Given the description of an element on the screen output the (x, y) to click on. 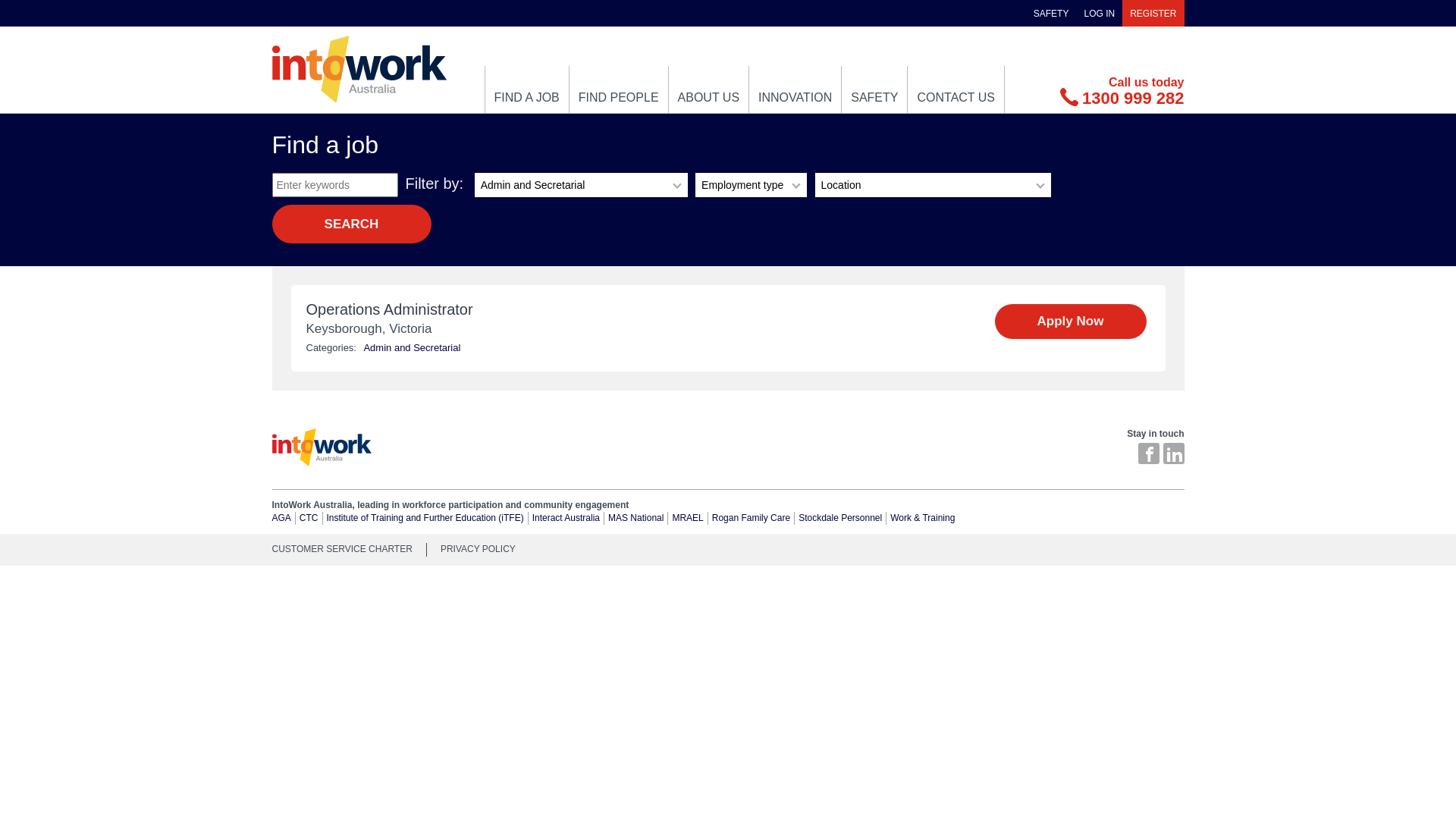
CUSTOMER SERVICE CHARTER Element type: text (348, 547)
MAS National Element type: text (635, 517)
search Element type: text (350, 223)
Work & Training Element type: text (922, 517)
Rogan Family Care Element type: text (751, 517)
1300 999 282 Element type: text (1122, 98)
Admin and Secretarial Element type: text (411, 347)
SAFETY Element type: text (1051, 13)
CONTACT US Element type: text (955, 88)
Apply Now Element type: text (1070, 321)
ABOUT US Element type: text (708, 88)
LOG IN Element type: text (1099, 13)
Interact Australia Element type: text (565, 517)
INNOVATION Element type: text (794, 88)
CTC Element type: text (308, 517)
Operations Administrator Element type: text (652, 309)
FIND A JOB Element type: text (526, 88)
AGA Element type: text (280, 517)
MRAEL Element type: text (686, 517)
Institute of Training and Further Education (iTFE) Element type: text (425, 517)
FIND PEOPLE Element type: text (618, 88)
PRIVACY POLICY Element type: text (477, 547)
SAFETY Element type: text (873, 88)
Stockdale Personnel Element type: text (839, 517)
REGISTER Element type: text (1152, 13)
